Given the description of an element on the screen output the (x, y) to click on. 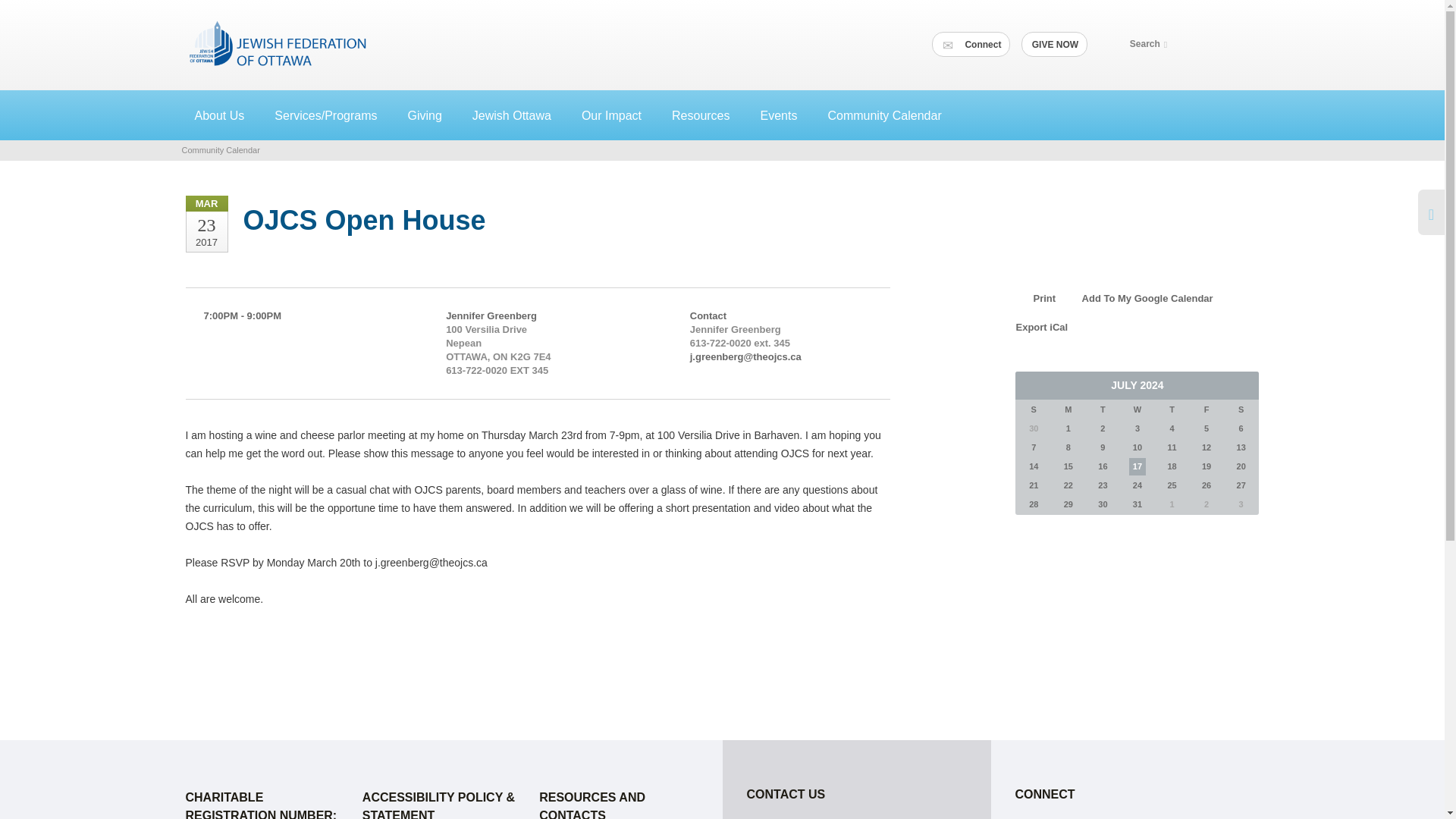
Giving (430, 115)
About Us (224, 115)
Wednesday (1137, 409)
Jewish Federation of Ottawa (277, 42)
GIVE NOW (1055, 44)
Tuesday (1102, 409)
Prev (1030, 385)
Next (1243, 385)
Connect (971, 44)
Friday (1206, 409)
Saturday (1241, 409)
Sunday (1033, 409)
Search (1151, 43)
Thursday (1171, 409)
Monday (1067, 409)
